Given the description of an element on the screen output the (x, y) to click on. 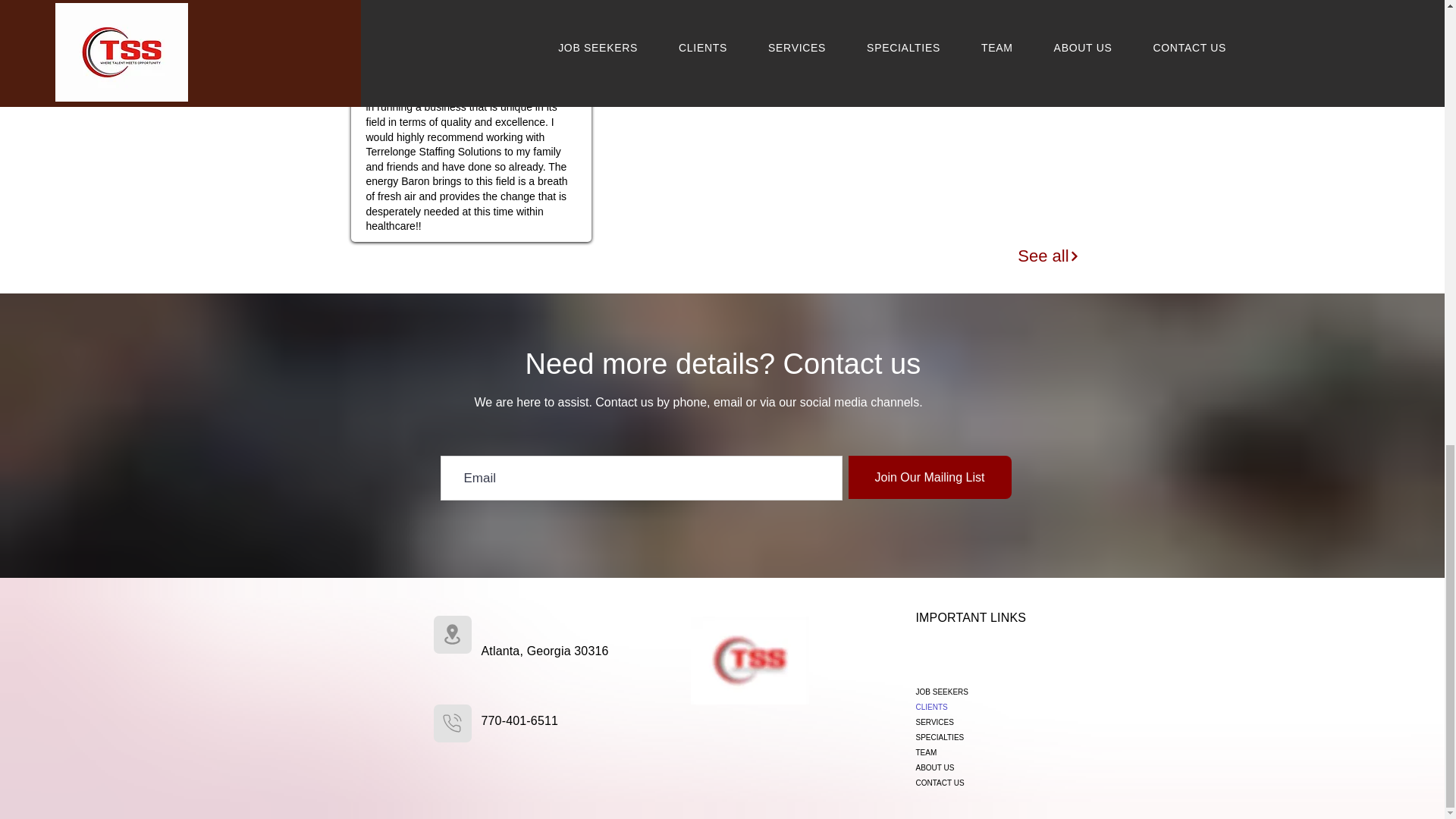
SERVICES (968, 722)
CONTACT US (968, 783)
TEAM (968, 752)
See all (1048, 256)
Join Our Mailing List (928, 476)
ABOUT US (968, 767)
